Given the description of an element on the screen output the (x, y) to click on. 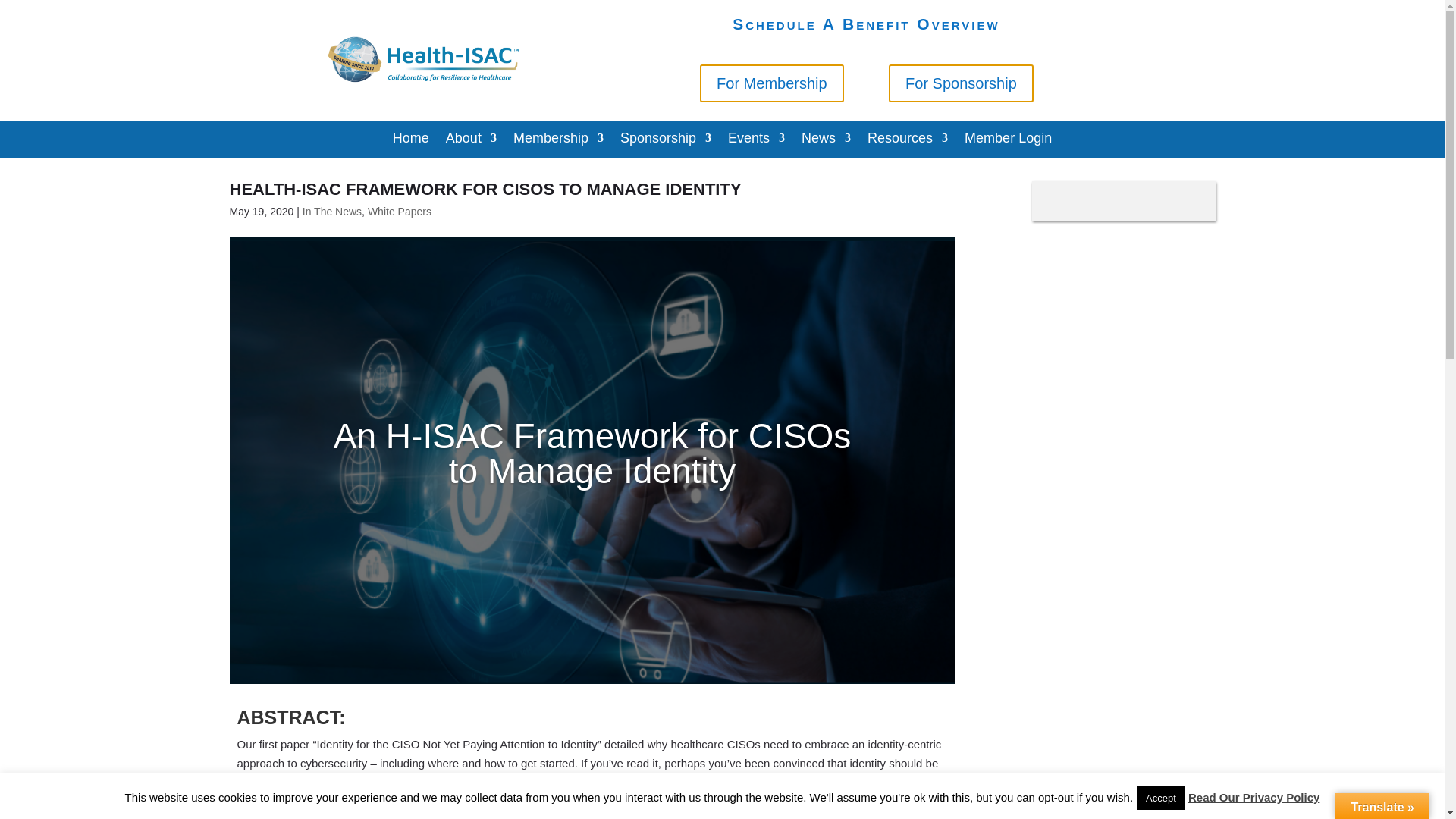
Home (411, 140)
About (470, 140)
Sponsorship (665, 140)
For Membership (772, 83)
Events (756, 140)
Member Login (1007, 140)
News (826, 140)
Membership (558, 140)
Resources (907, 140)
For Sponsorship (960, 83)
